Given the description of an element on the screen output the (x, y) to click on. 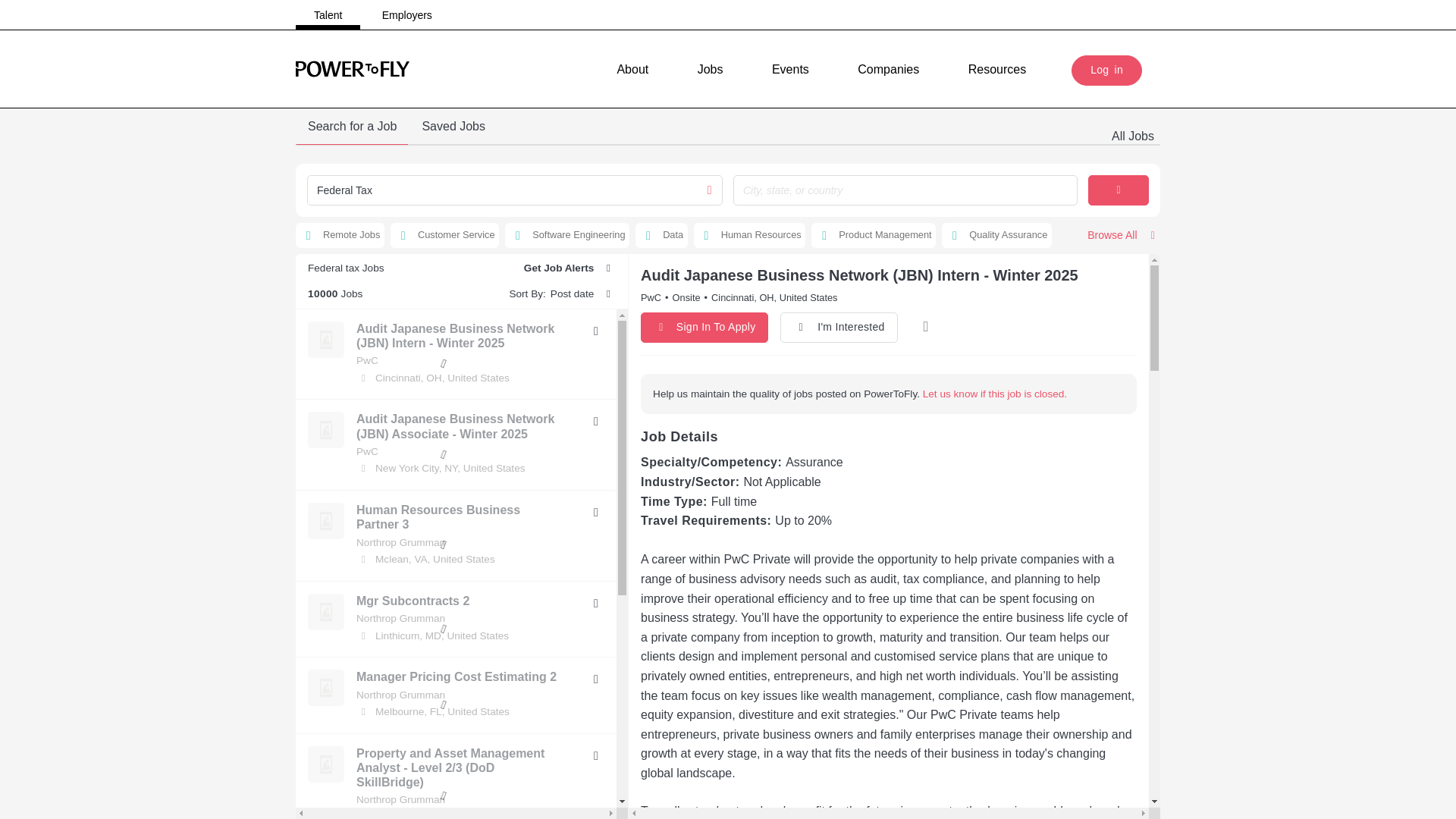
Remote Jobs (339, 235)
Log in (1106, 70)
Data (660, 235)
Quality Assurance (996, 235)
Software Engineering Jobs (566, 235)
All Jobs (1133, 136)
Product Management (873, 235)
Data Jobs (660, 235)
Human Resources Jobs (750, 235)
PowerToFly (352, 68)
